Given the description of an element on the screen output the (x, y) to click on. 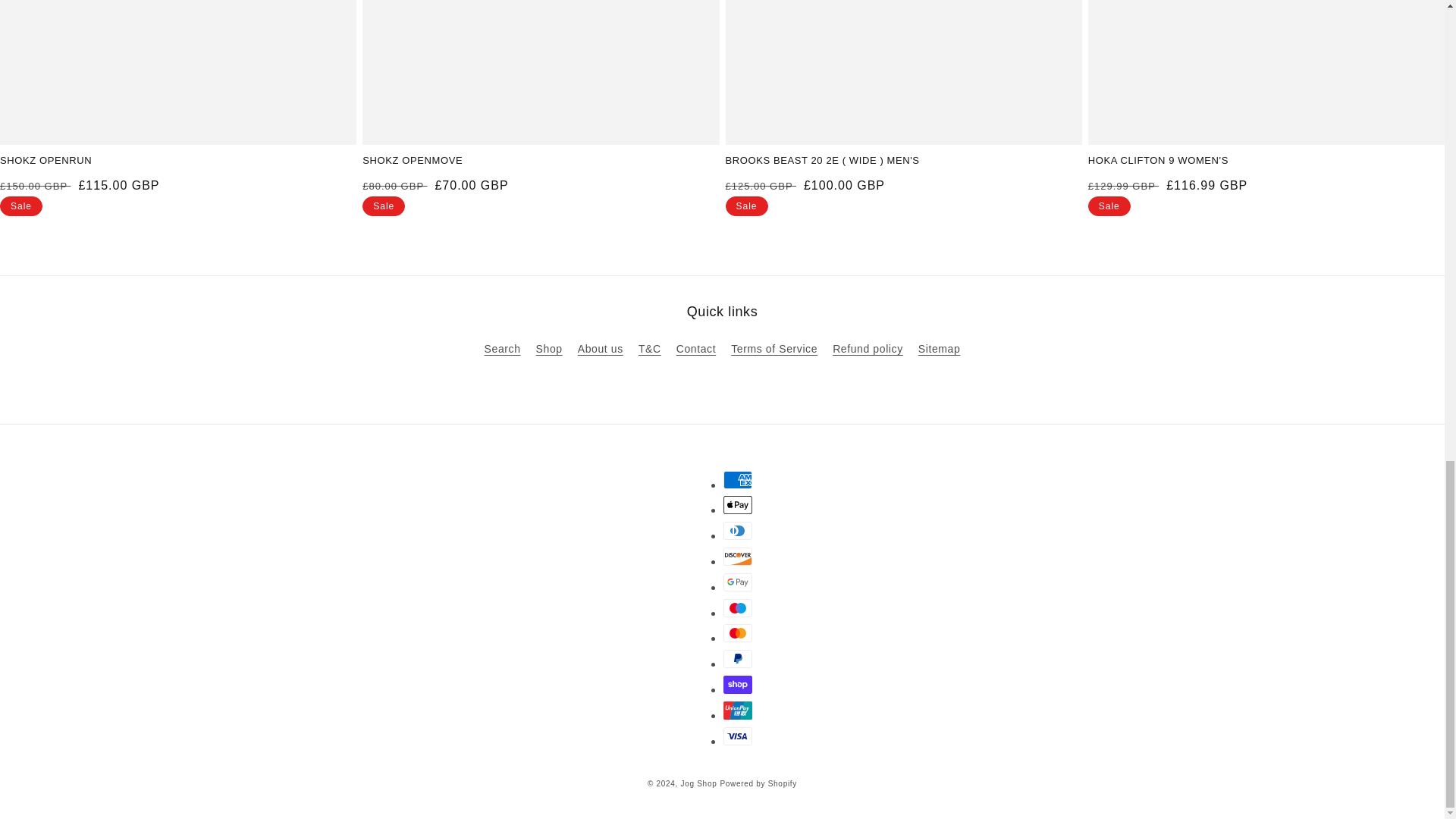
Discover (737, 556)
Mastercard (737, 633)
American Express (737, 479)
Diners Club (737, 530)
Union Pay (737, 710)
PayPal (737, 659)
Google Pay (737, 582)
Visa (737, 736)
Apple Pay (737, 505)
Maestro (737, 607)
